Given the description of an element on the screen output the (x, y) to click on. 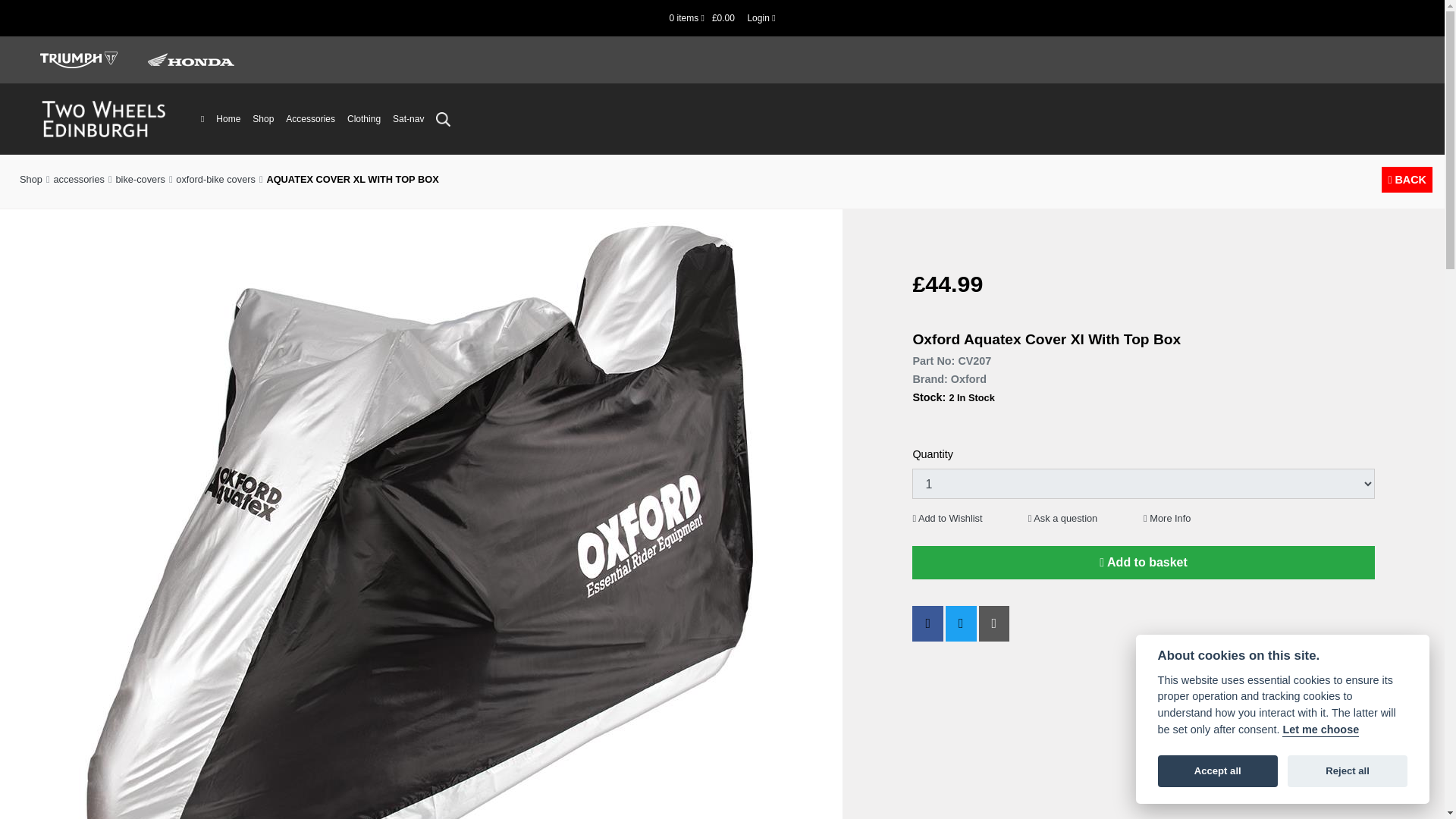
Two Wheels (103, 117)
Ask a question (1062, 518)
More Info (1166, 518)
Sat-nav (408, 118)
Shop (33, 179)
Login (760, 18)
Shop (262, 118)
Accessories (309, 118)
Clothing  (363, 118)
Ask a question (1062, 518)
oxford-bike covers (213, 179)
accessories (76, 179)
Cart (703, 18)
Add to Wishlist (946, 518)
Add to Wishlist (946, 518)
